Given the description of an element on the screen output the (x, y) to click on. 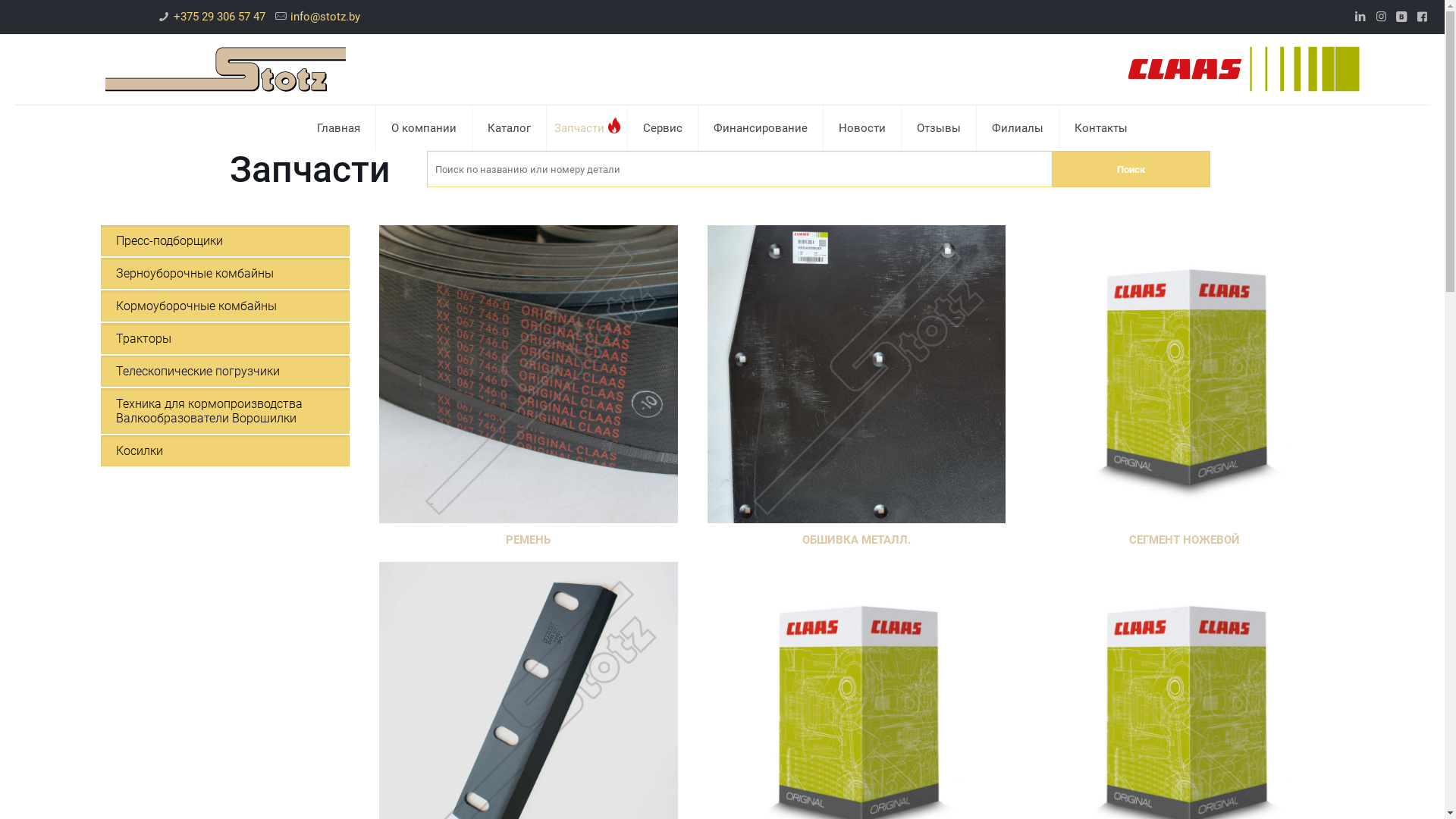
LinkedIn Element type: hover (1360, 16)
+ 375 29 306 57 47 Element type: text (1001, 562)
Instagram Element type: hover (711, 793)
info@stotz.by Element type: text (325, 16)
VKontakte Element type: hover (732, 793)
+ 375 44 517 03 00 Element type: text (1001, 603)
+375 29 306 57 47 Element type: text (219, 16)
LinkedIn Element type: hover (691, 793)
Instagram Element type: hover (1381, 16)
+ 375 29 187 26 13 Element type: text (1001, 644)
VKontakte Element type: hover (1401, 16)
